Given the description of an element on the screen output the (x, y) to click on. 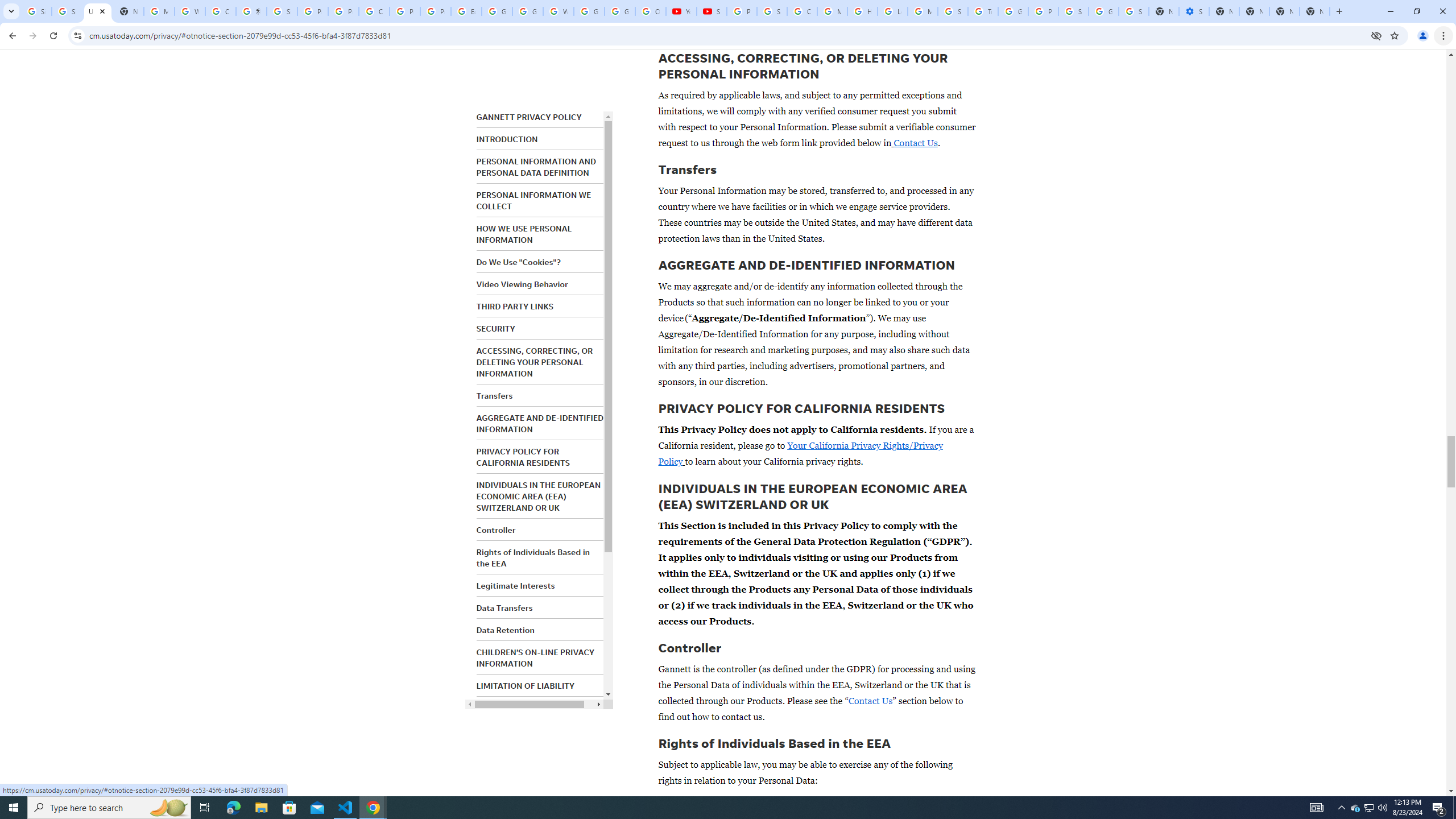
SECURITY (495, 328)
AGGREGATE AND DE-IDENTIFIED INFORMATION (540, 423)
LIMITATION OF LIABILITY (525, 685)
Google Slides: Sign-in (496, 11)
Settings - Performance (1193, 11)
INDEMNIFICATION (512, 707)
HOW WE USE PERSONAL INFORMATION (524, 233)
Sign in - Google Accounts (1072, 11)
